Given the description of an element on the screen output the (x, y) to click on. 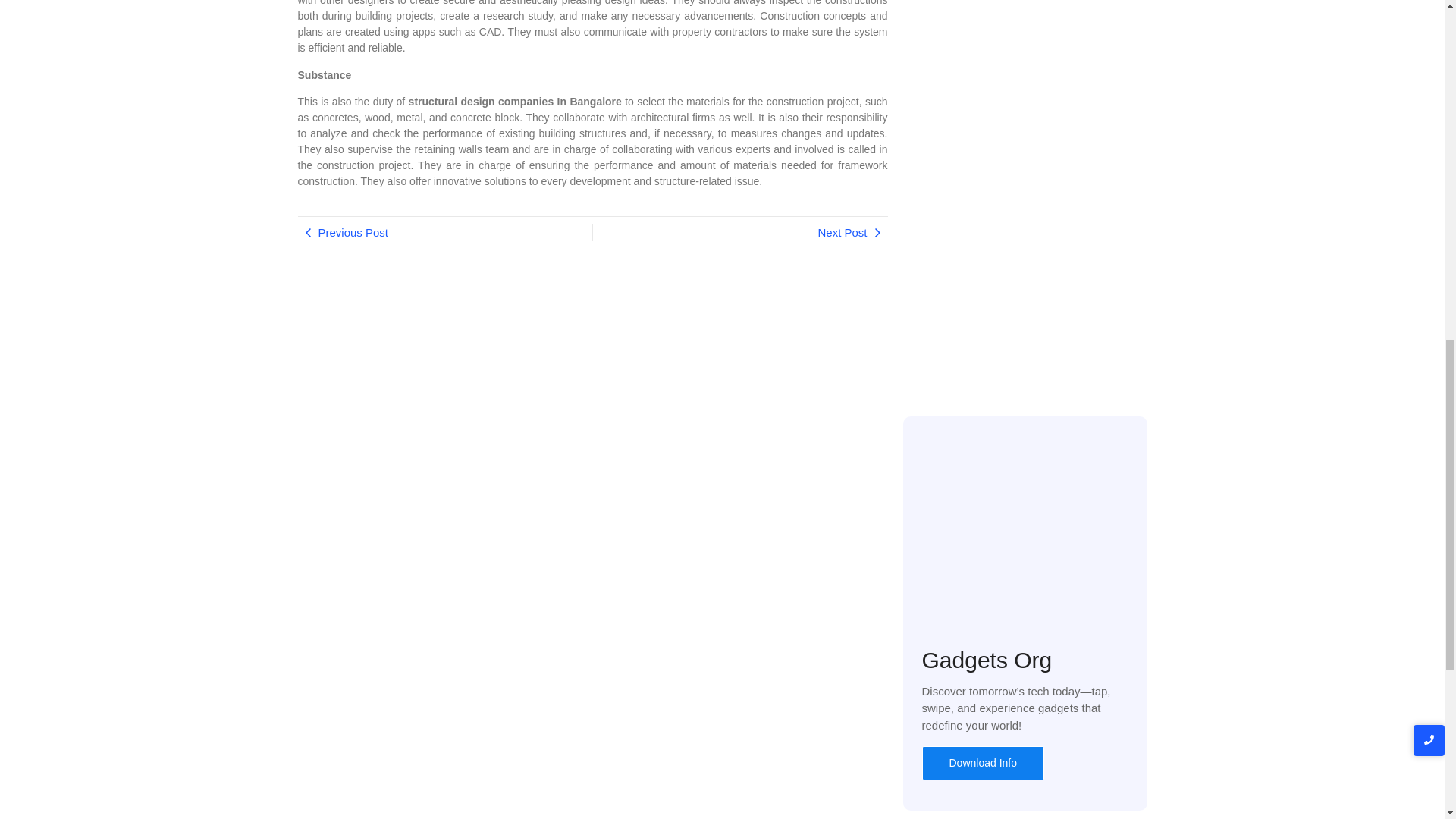
Next Post (740, 232)
Previous Post (444, 232)
Download Info (983, 763)
